Given the description of an element on the screen output the (x, y) to click on. 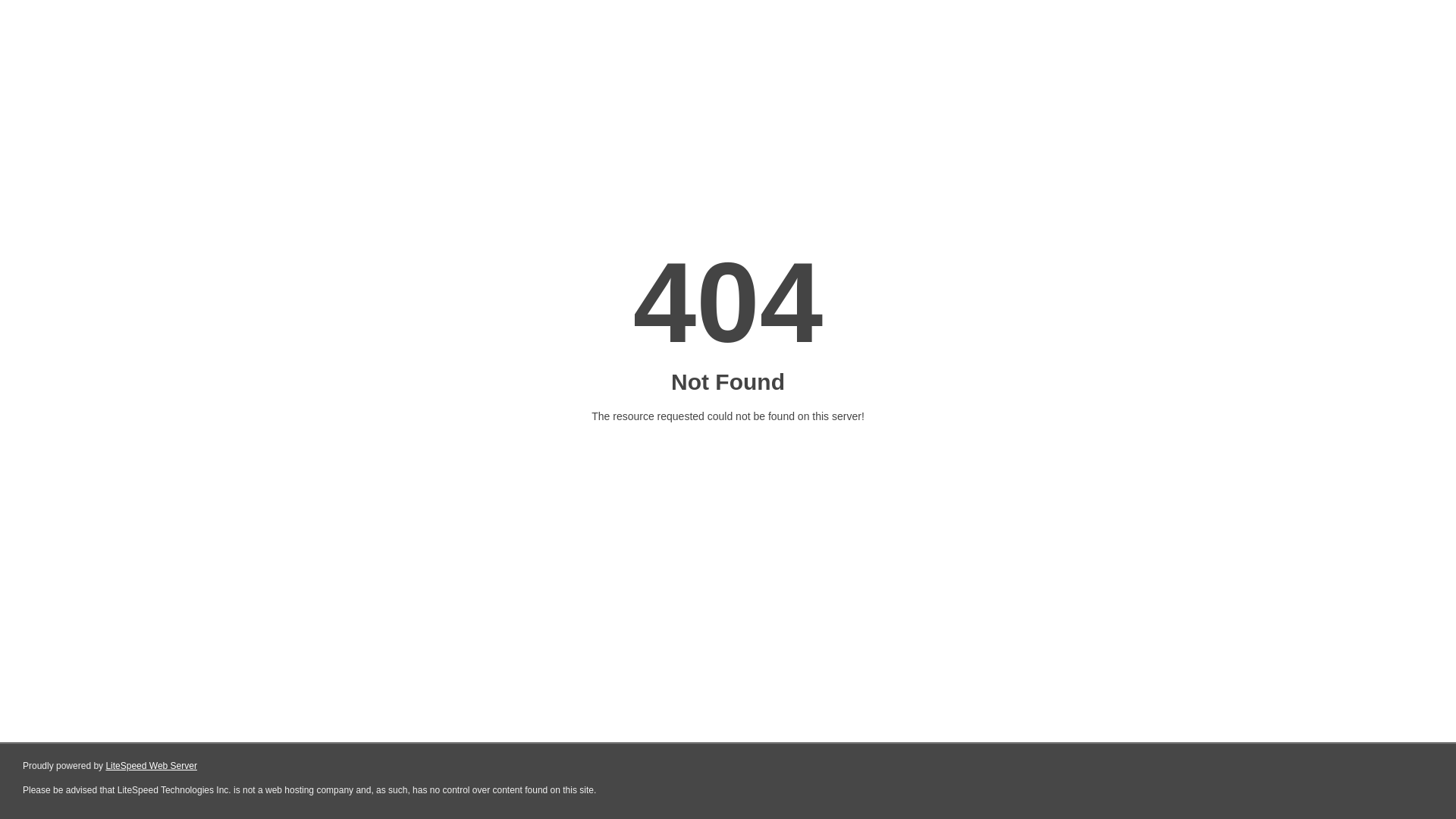
LiteSpeed Web Server (150, 765)
